Given the description of an element on the screen output the (x, y) to click on. 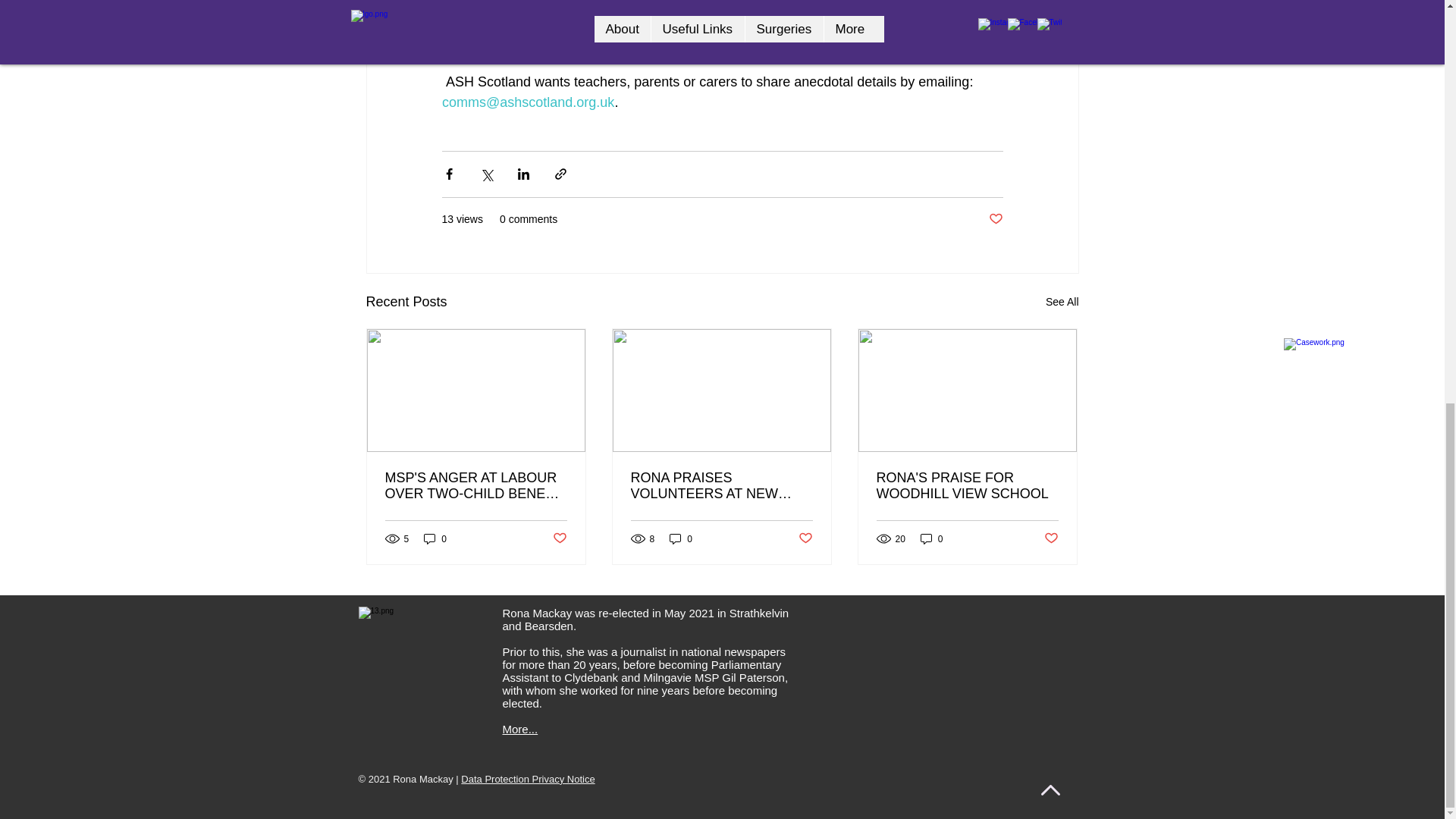
See All (1061, 301)
RONA'S PRAISE FOR WOODHILL VIEW SCHOOL (967, 486)
0 (435, 538)
MSP'S ANGER AT LABOUR OVER TWO-CHILD BENEFIT CAP VOTE (476, 486)
0 (931, 538)
Post not marked as liked (995, 219)
Post not marked as liked (1050, 538)
RONA PRAISES VOLUNTEERS AT NEW COMMUNITY HUB (721, 486)
0 (681, 538)
Post not marked as liked (804, 538)
More... (519, 728)
Post not marked as liked (558, 538)
